Given the description of an element on the screen output the (x, y) to click on. 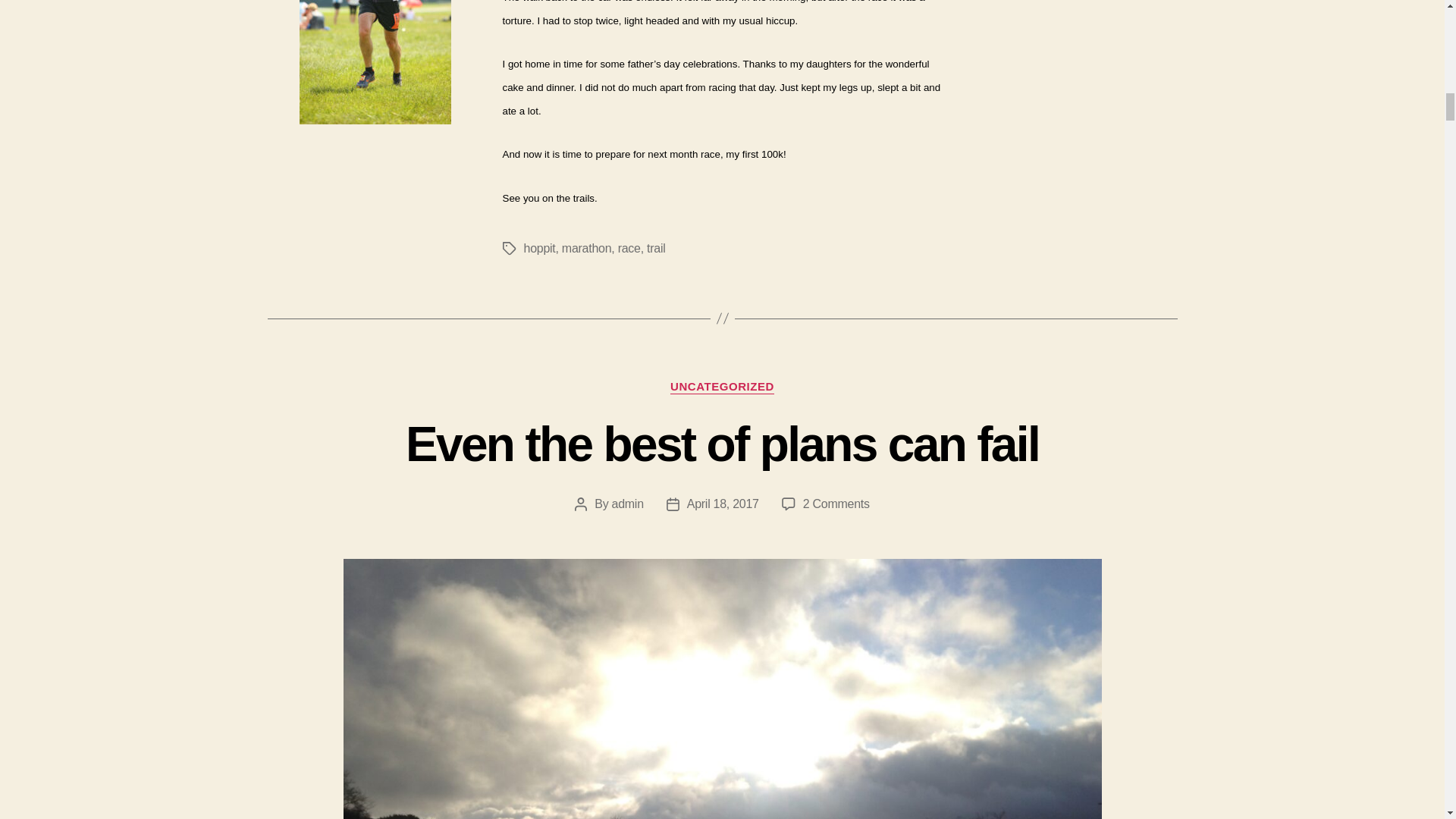
UNCATEGORIZED (836, 503)
trail (721, 387)
hoppit (655, 247)
admin (538, 247)
marathon (627, 503)
Even the best of plans can fail (586, 247)
April 18, 2017 (722, 443)
race (722, 503)
